Given the description of an element on the screen output the (x, y) to click on. 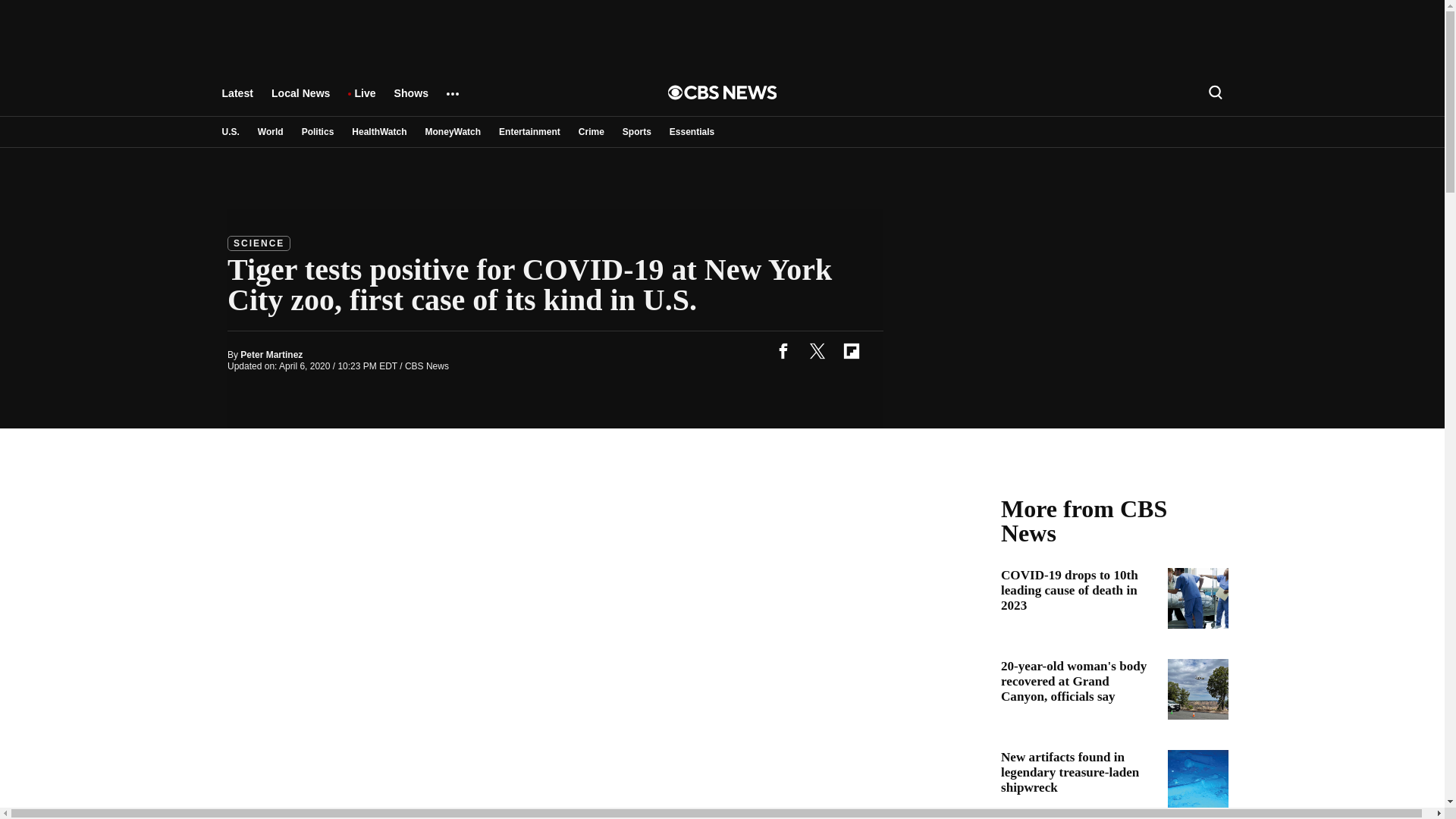
Latest (236, 100)
flipboard (850, 350)
Local News (300, 100)
facebook (782, 350)
twitter (816, 350)
